Given the description of an element on the screen output the (x, y) to click on. 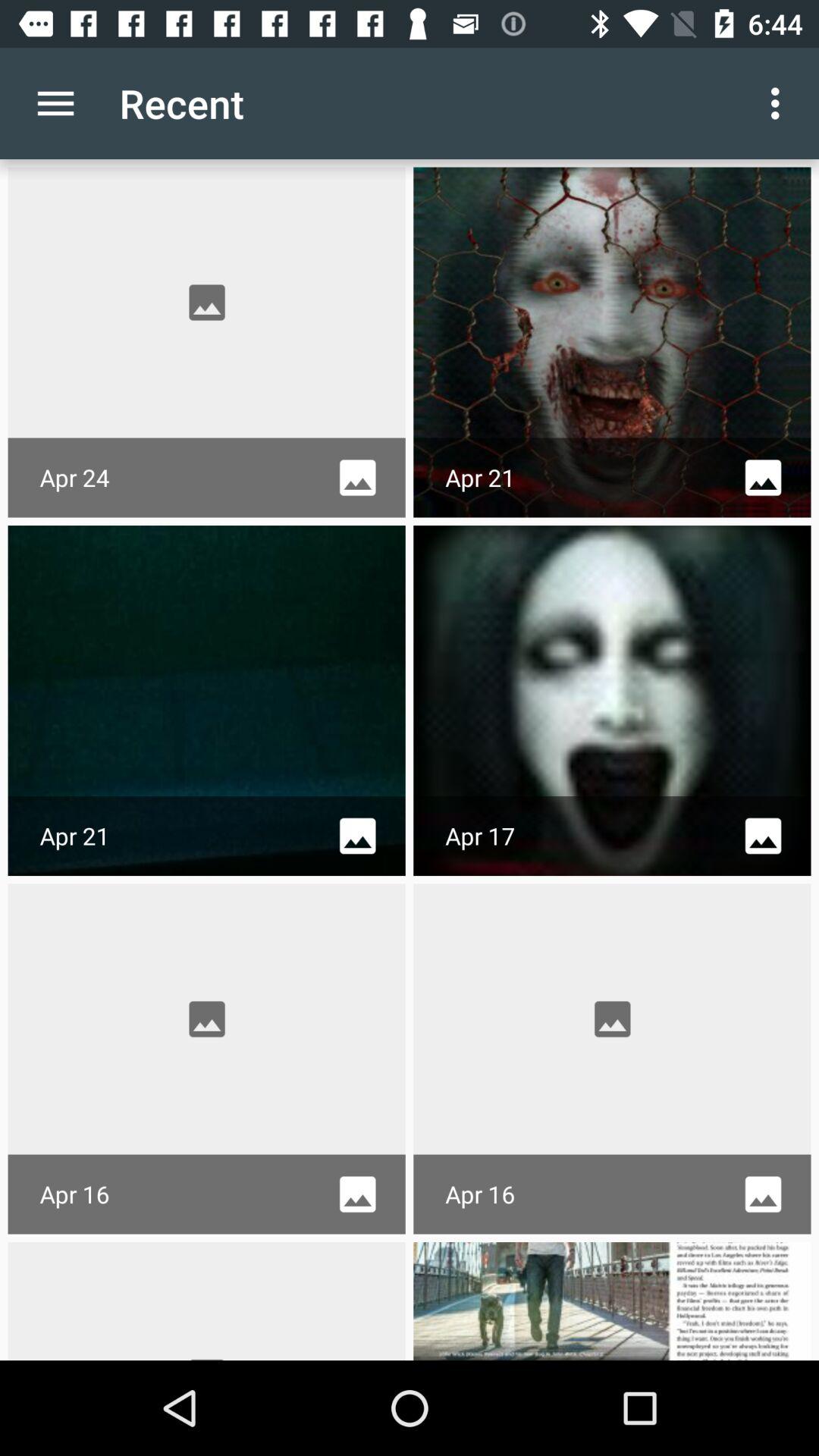
launch the icon to the right of recent icon (779, 103)
